Given the description of an element on the screen output the (x, y) to click on. 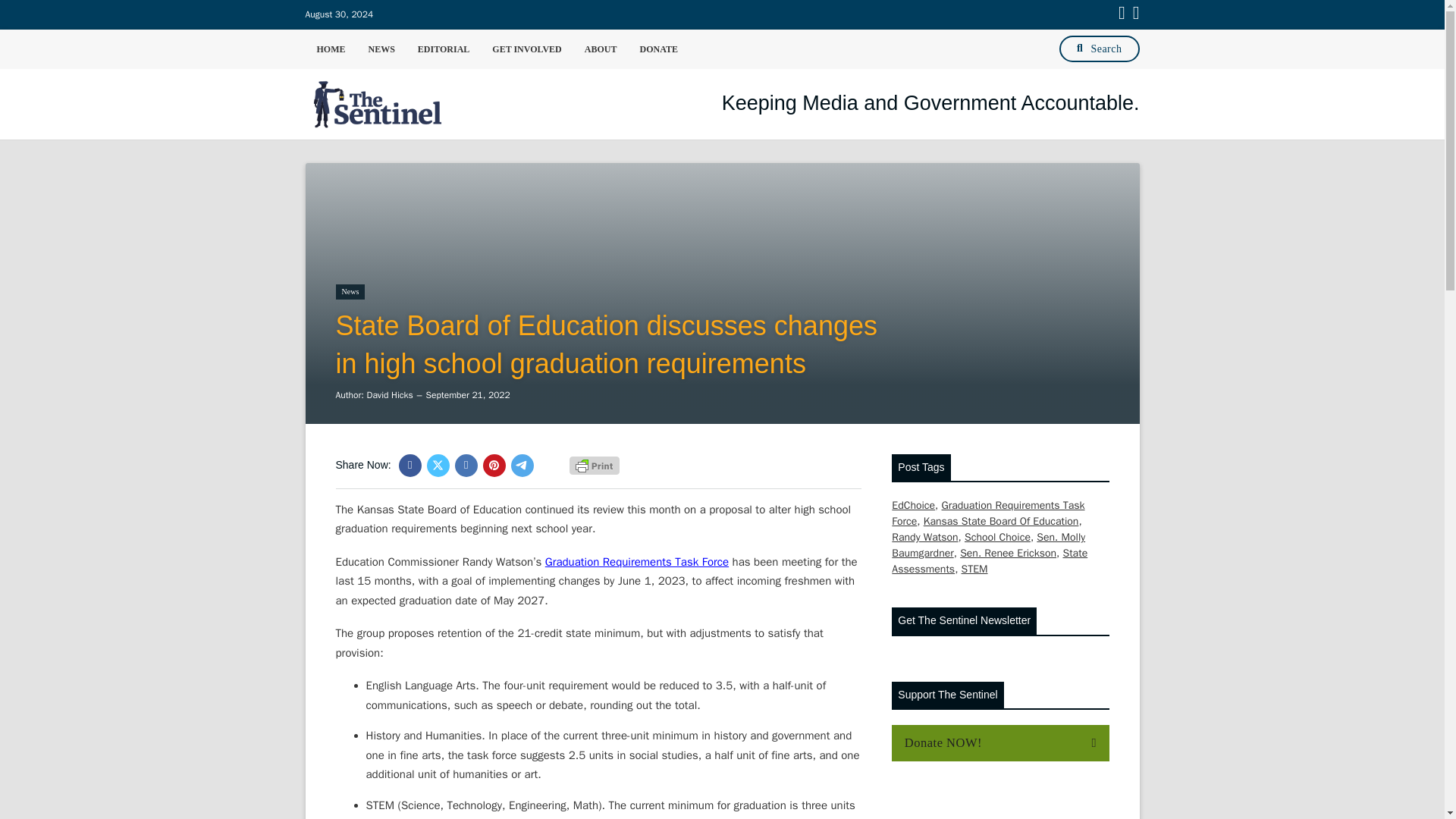
DONATE (657, 47)
NEWS (381, 47)
GET INVOLVED (526, 47)
Search (1098, 49)
ABOUT (600, 47)
HOME (330, 47)
Graduation Requirements Task Force (636, 561)
News (349, 291)
David Hicks (389, 395)
EDITORIAL (443, 47)
